Given the description of an element on the screen output the (x, y) to click on. 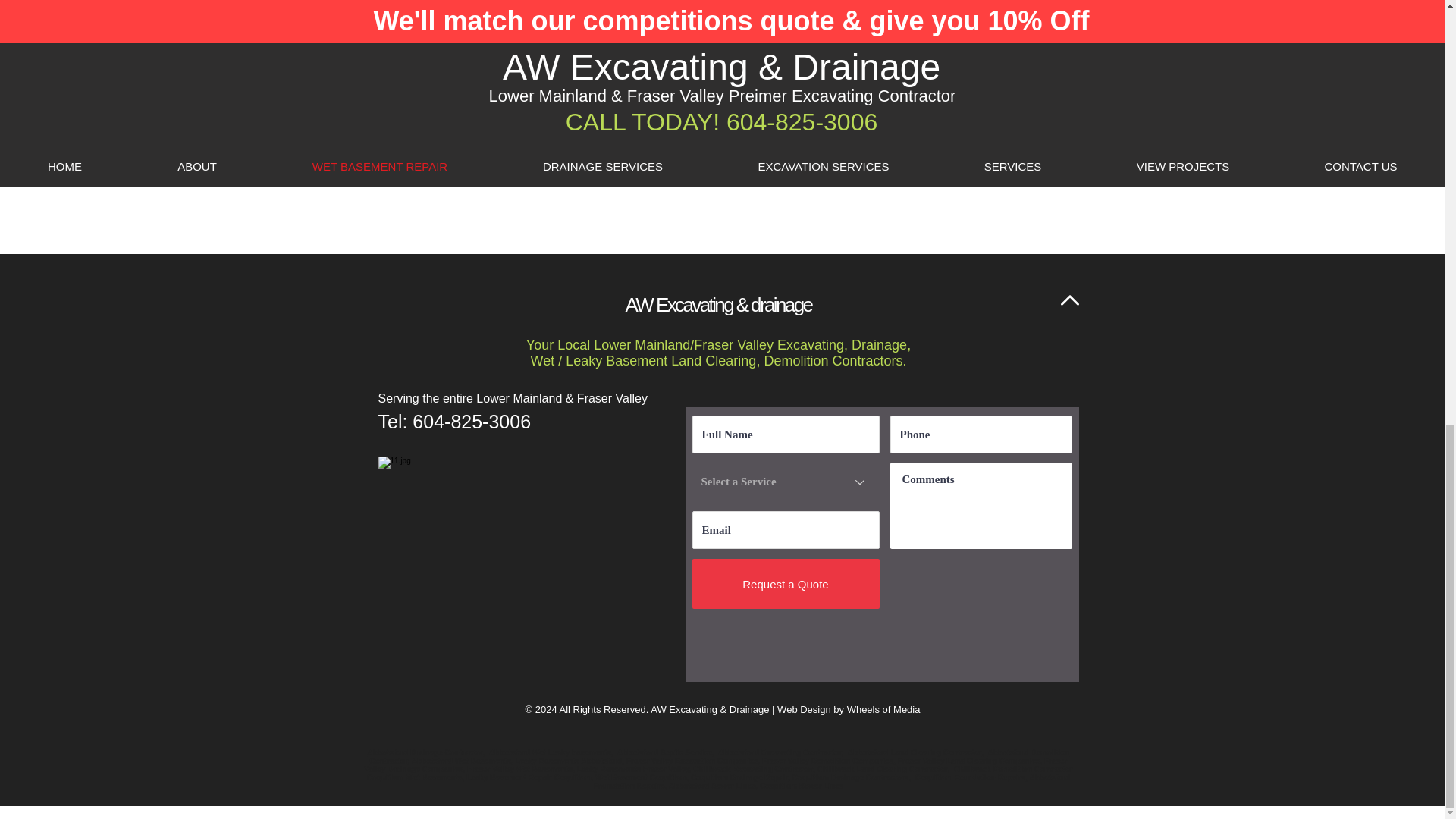
Abbotsford Demolition Contractor (718, 756)
Request a Quote (785, 583)
Wheels of Media (883, 708)
Abbotsford Land Clearing Contractor (914, 752)
